Given the description of an element on the screen output the (x, y) to click on. 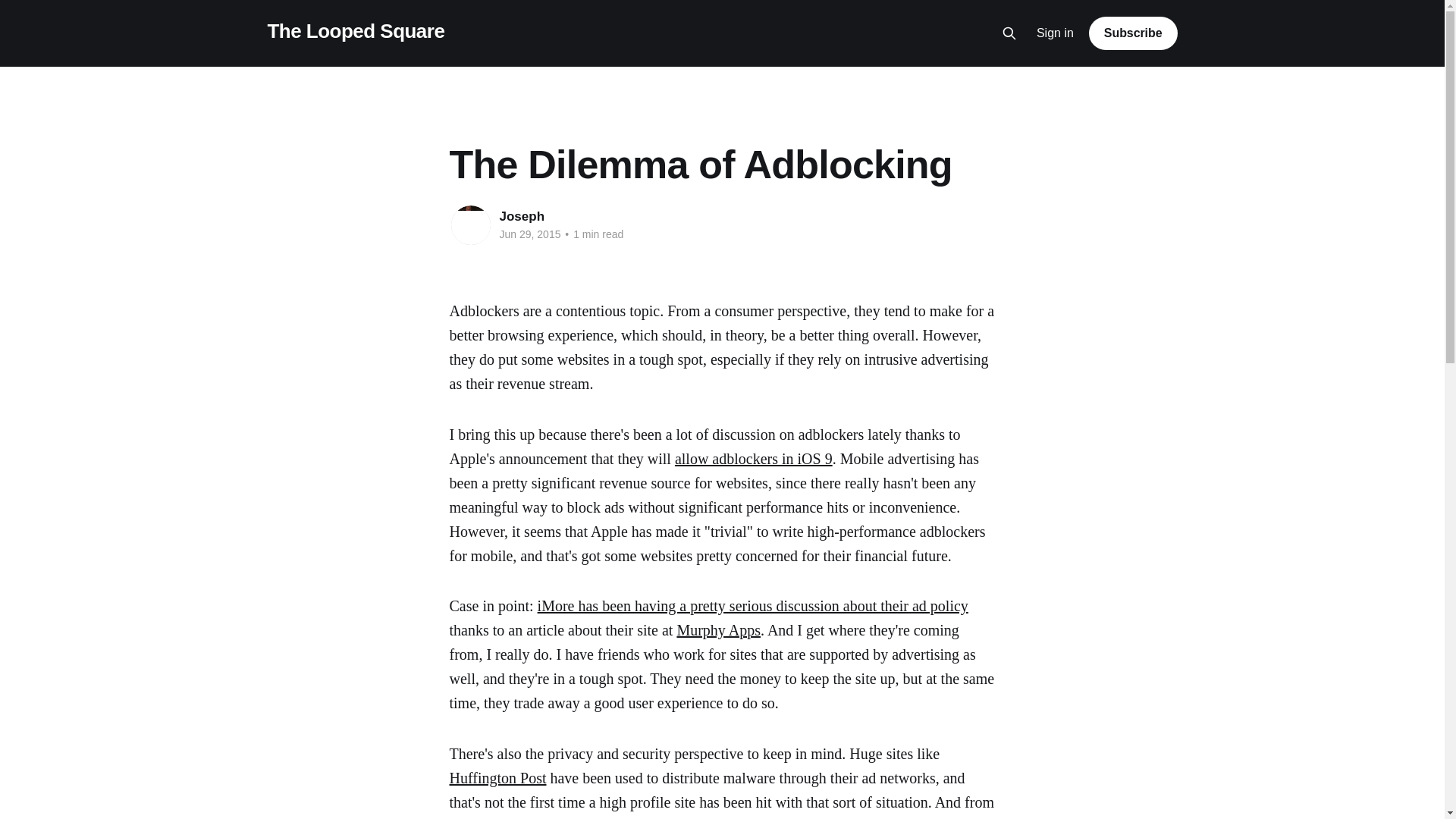
The Looped Square (355, 31)
Sign in (1055, 33)
Murphy Apps (718, 629)
Joseph (521, 216)
Huffington Post (497, 777)
Subscribe (1133, 32)
allow adblockers in iOS 9 (753, 458)
